Given the description of an element on the screen output the (x, y) to click on. 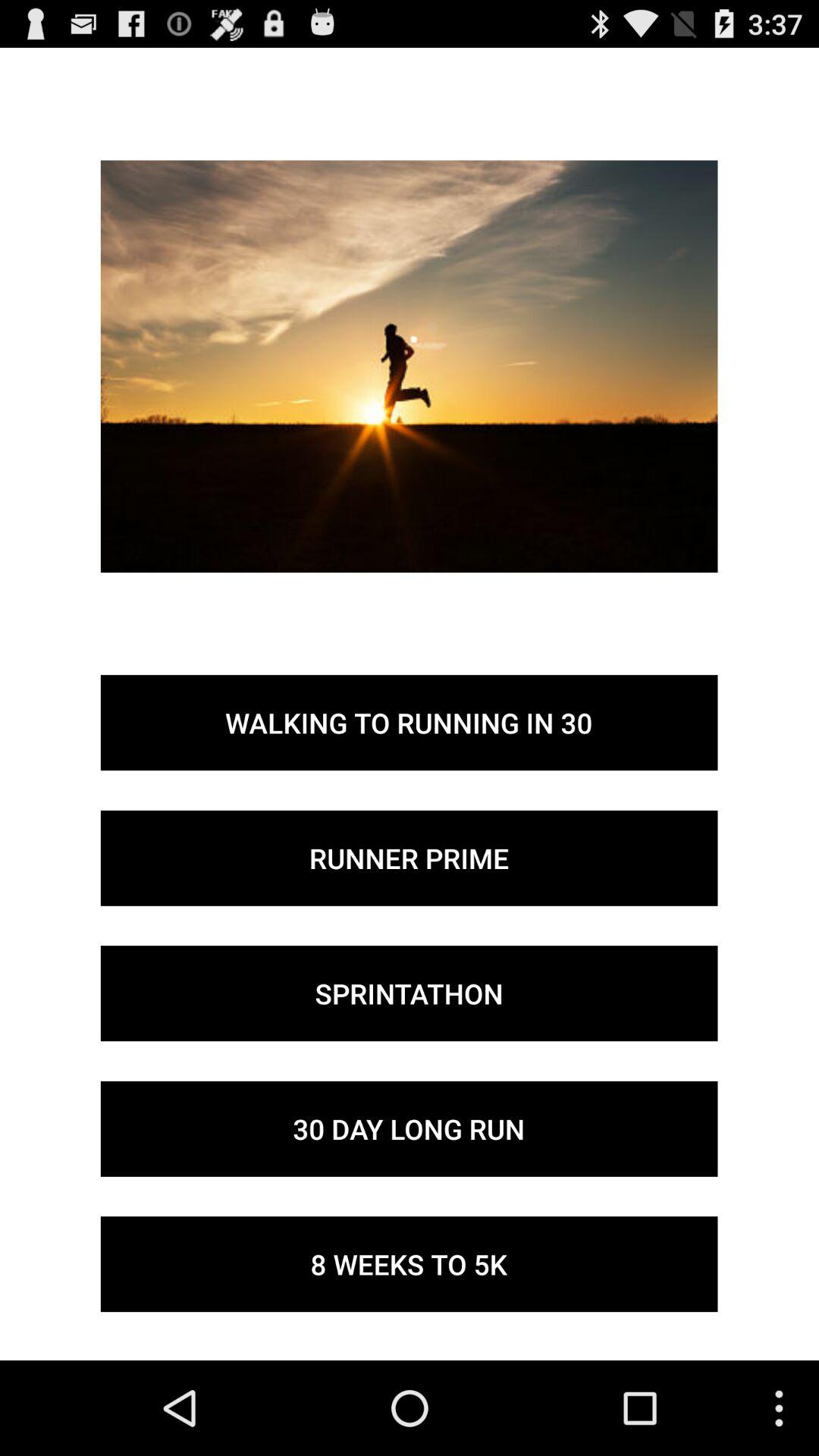
swipe until sprintathon item (408, 993)
